Given the description of an element on the screen output the (x, y) to click on. 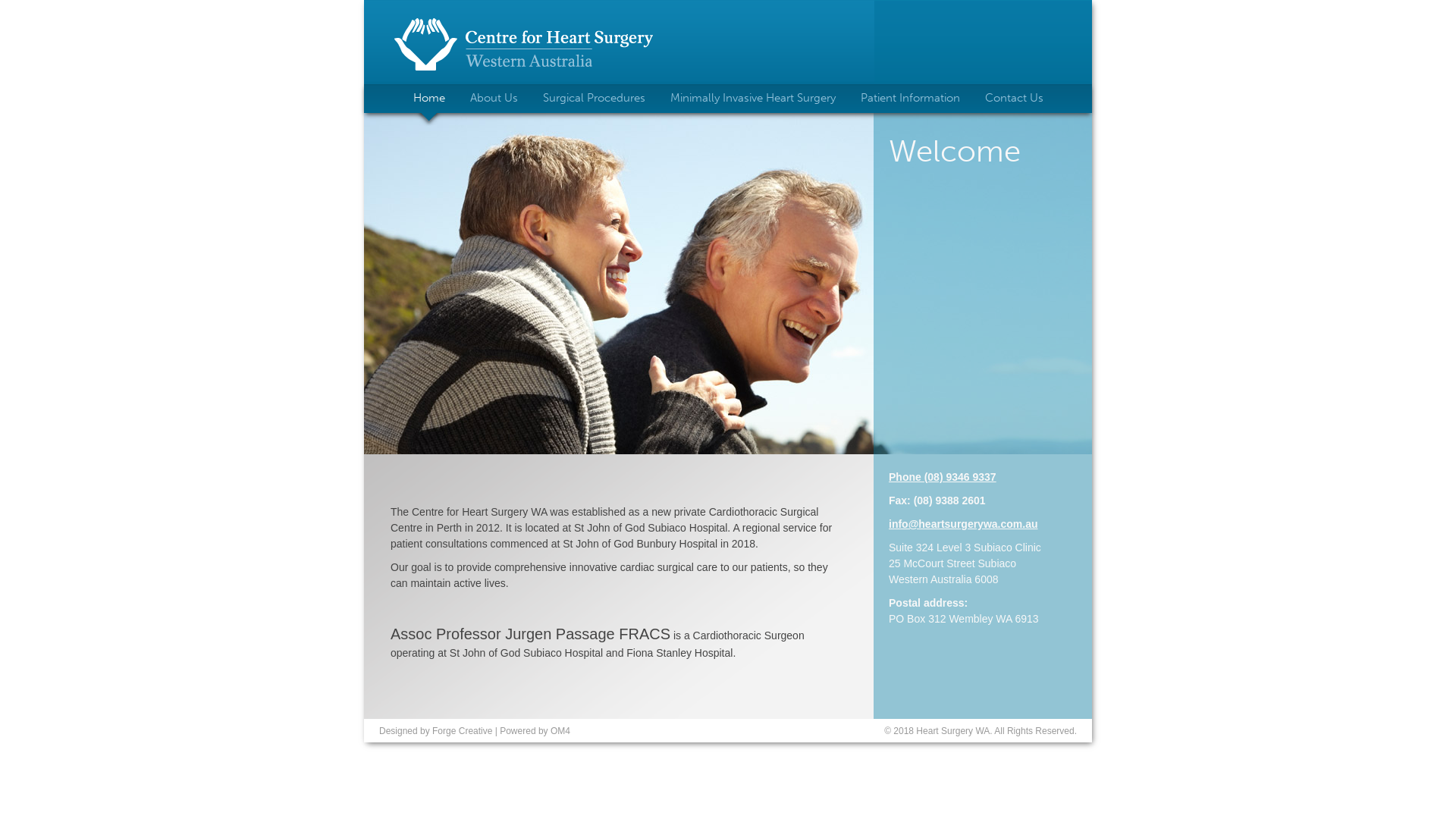
Designed by Forge Creative | Powered by OM4 Element type: text (474, 730)
Phone (08) 9346 9337 Element type: text (942, 476)
Contact Us Element type: text (1013, 97)
About Us Element type: text (494, 97)
Home Element type: text (428, 97)
Patient Information Element type: text (909, 97)
Minimally Invasive Heart Surgery Element type: text (752, 97)
info@heartsurgerywa.com.au Element type: text (962, 523)
logo Element type: hover (523, 44)
Surgical Procedures Element type: text (593, 97)
